Given the description of an element on the screen output the (x, y) to click on. 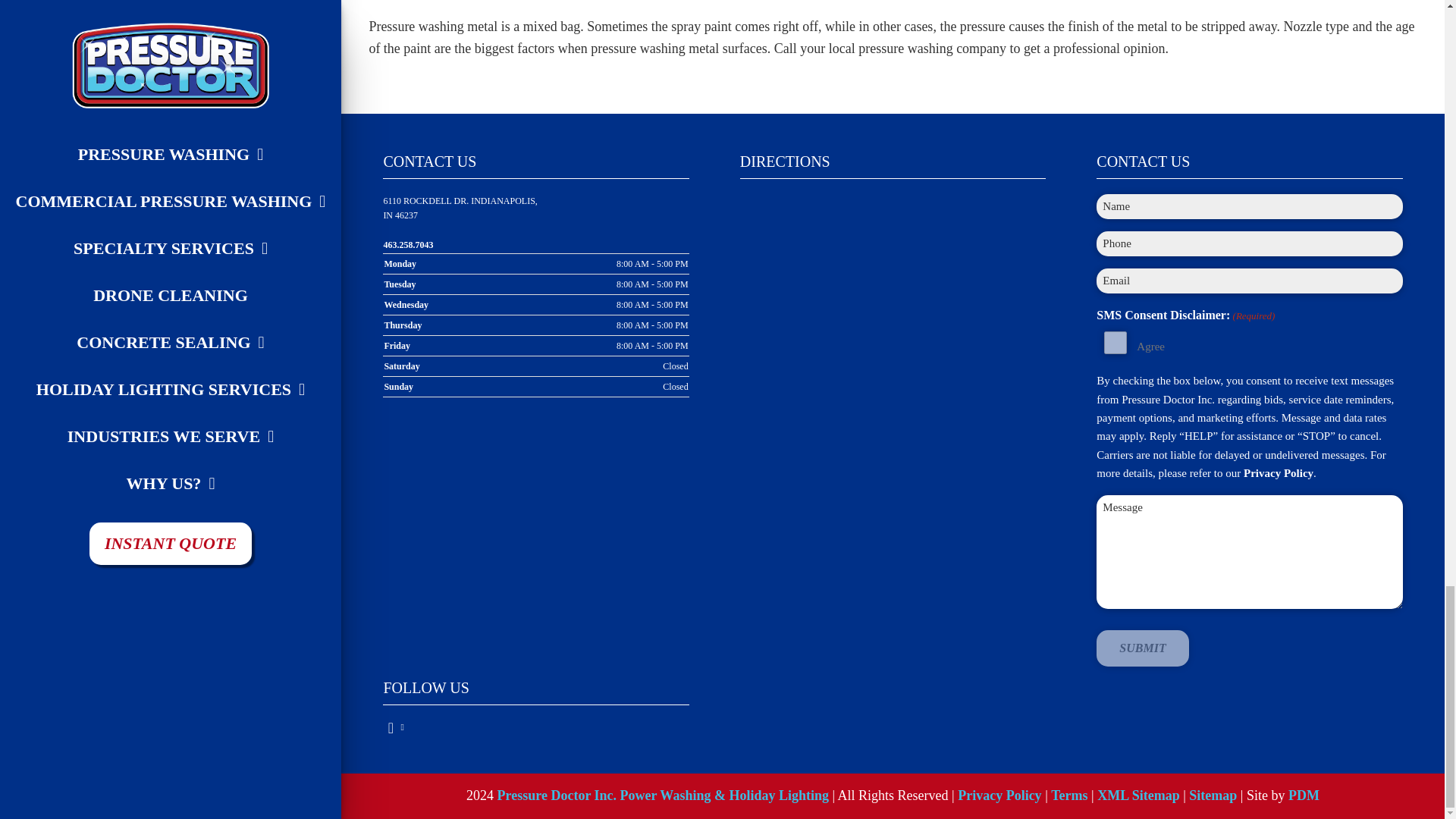
Agree (1114, 342)
Ogden SEO (1303, 795)
Submit (1142, 647)
